Given the description of an element on the screen output the (x, y) to click on. 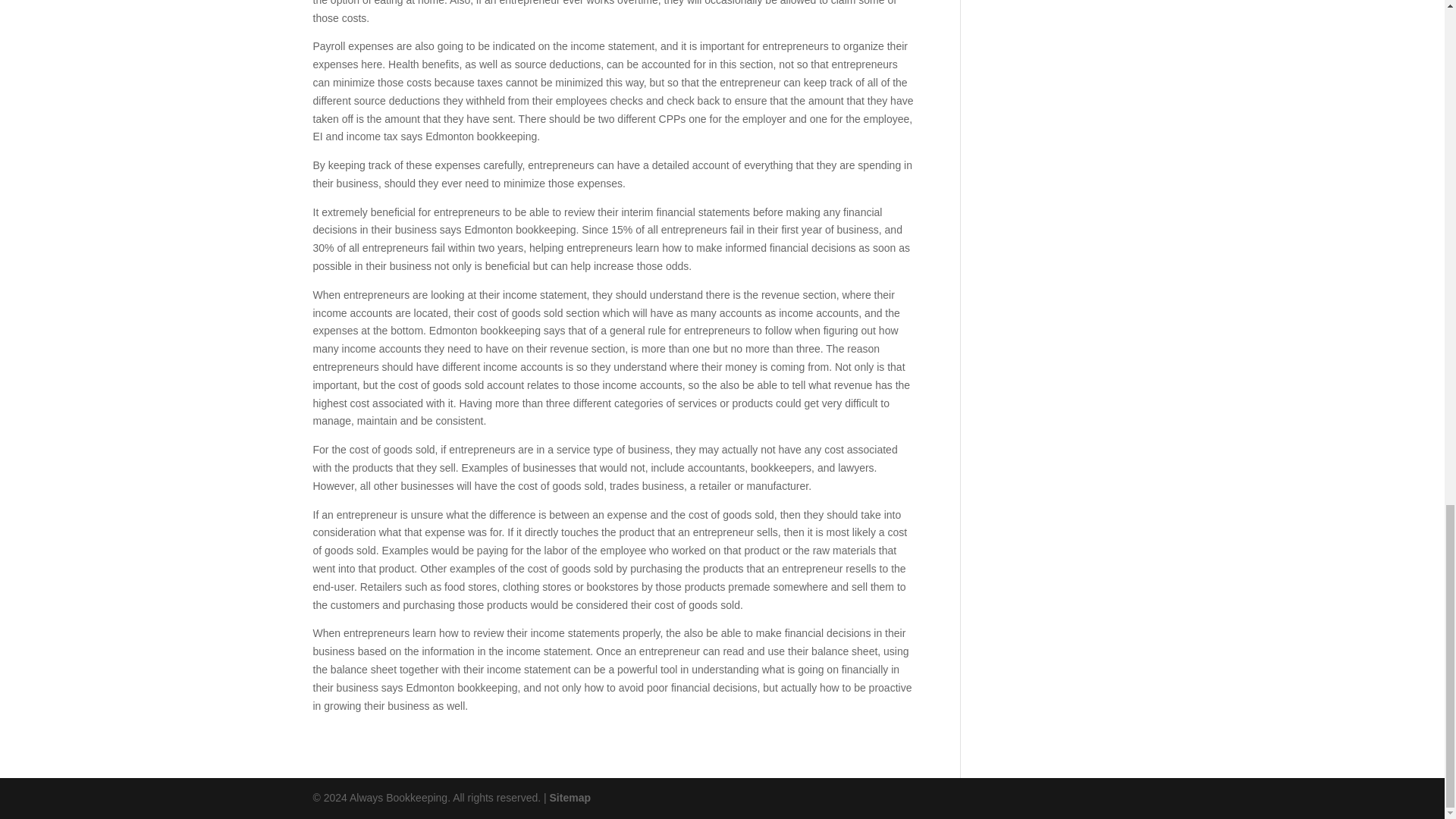
Sitemap (570, 797)
